Given the description of an element on the screen output the (x, y) to click on. 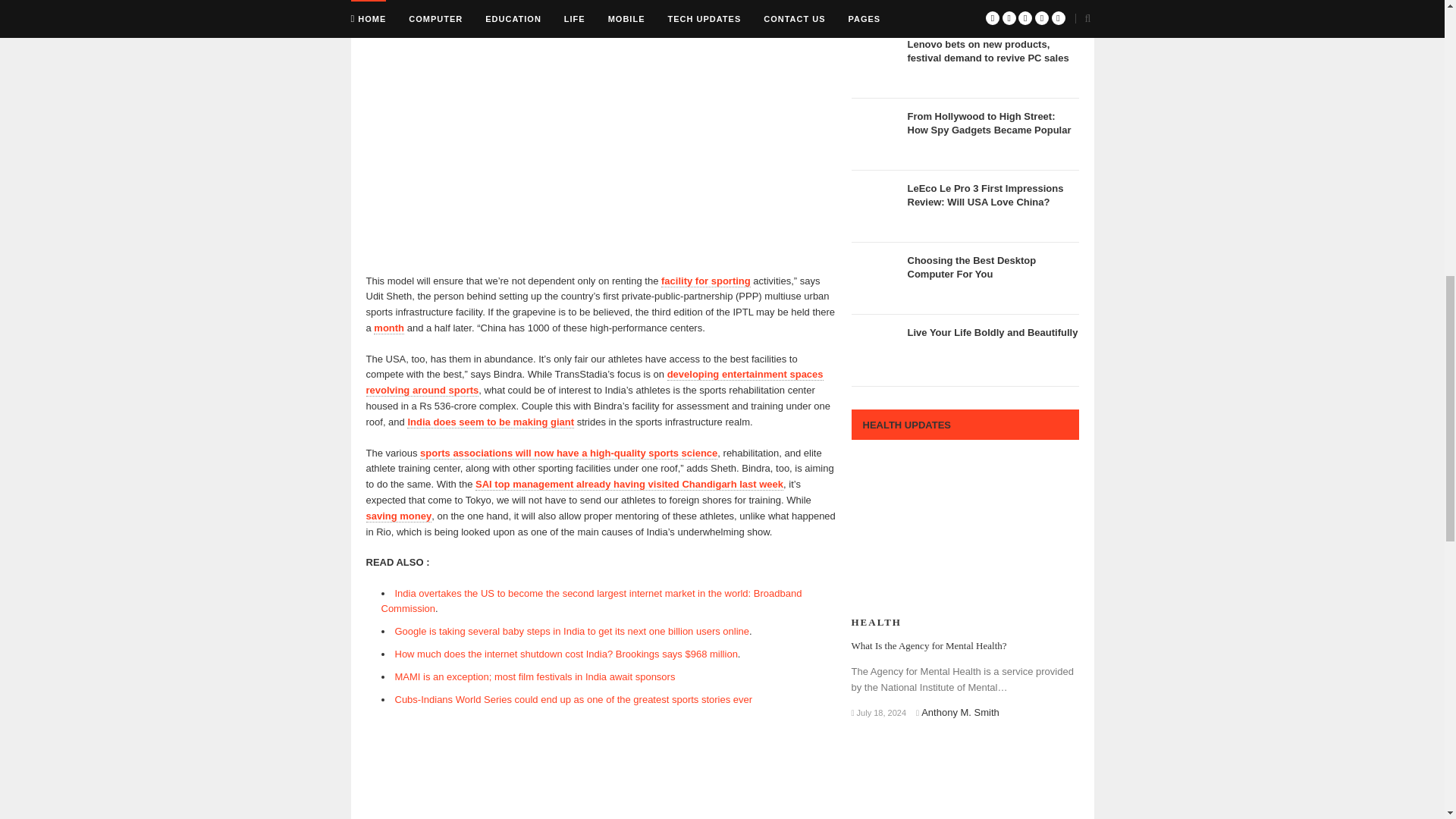
Advertisement (600, 159)
8 Digital marketing tips for the recently funded startups 12 (874, 7)
Advertisement (600, 770)
